Given the description of an element on the screen output the (x, y) to click on. 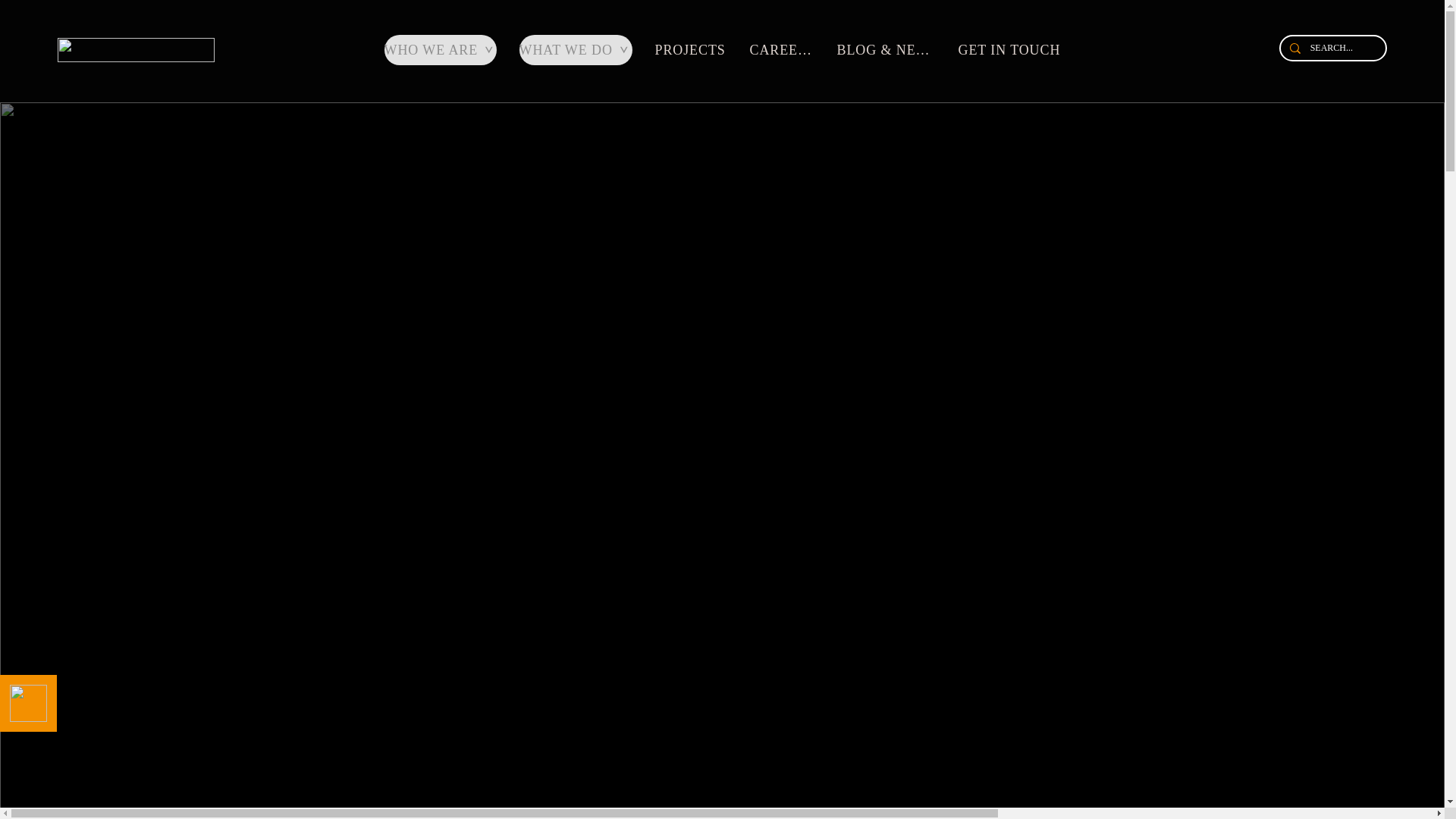
PROJECTS (692, 50)
GET IN TOUCH (1011, 50)
CAREERS (782, 50)
WHO WE ARE (440, 50)
WHAT WE DO (574, 50)
